Given the description of an element on the screen output the (x, y) to click on. 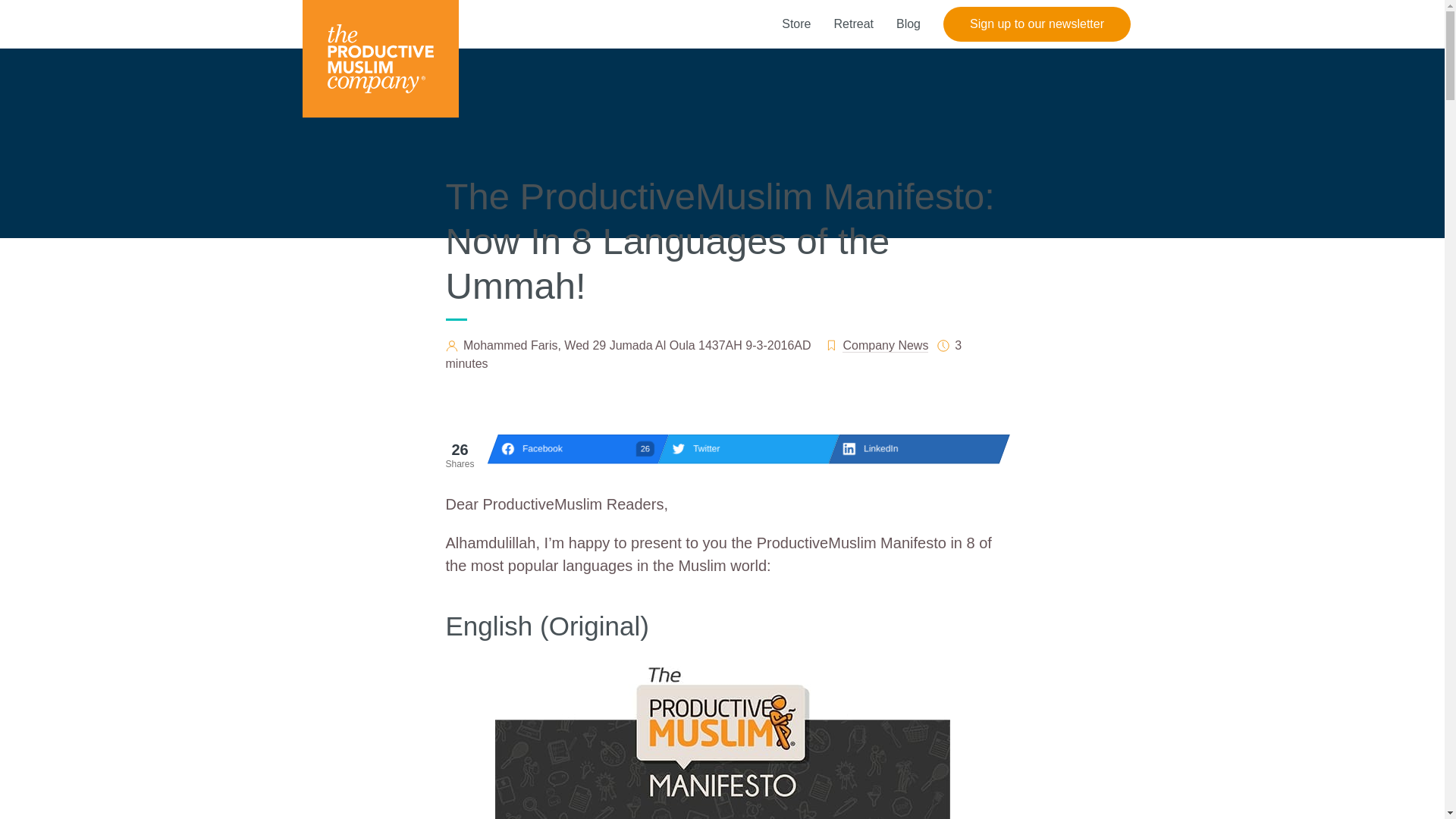
Retreat (572, 448)
Twitter (852, 24)
Skip to primary navigation (743, 448)
Mohammed Faris (1037, 23)
Store (510, 345)
LinkedIn (796, 24)
Company News (913, 448)
Blog (885, 345)
